Given the description of an element on the screen output the (x, y) to click on. 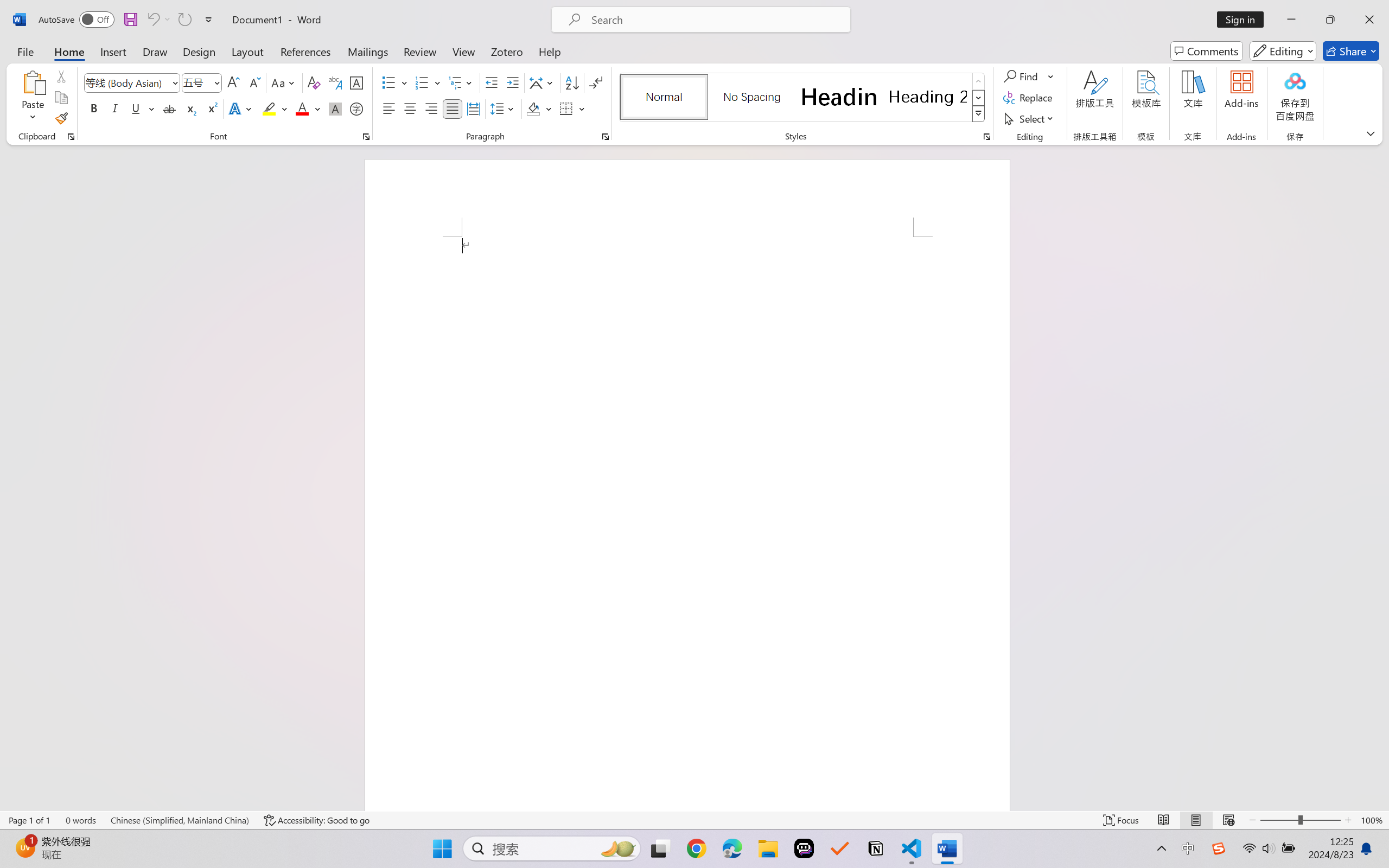
Zoom 100% (1372, 819)
